Given the description of an element on the screen output the (x, y) to click on. 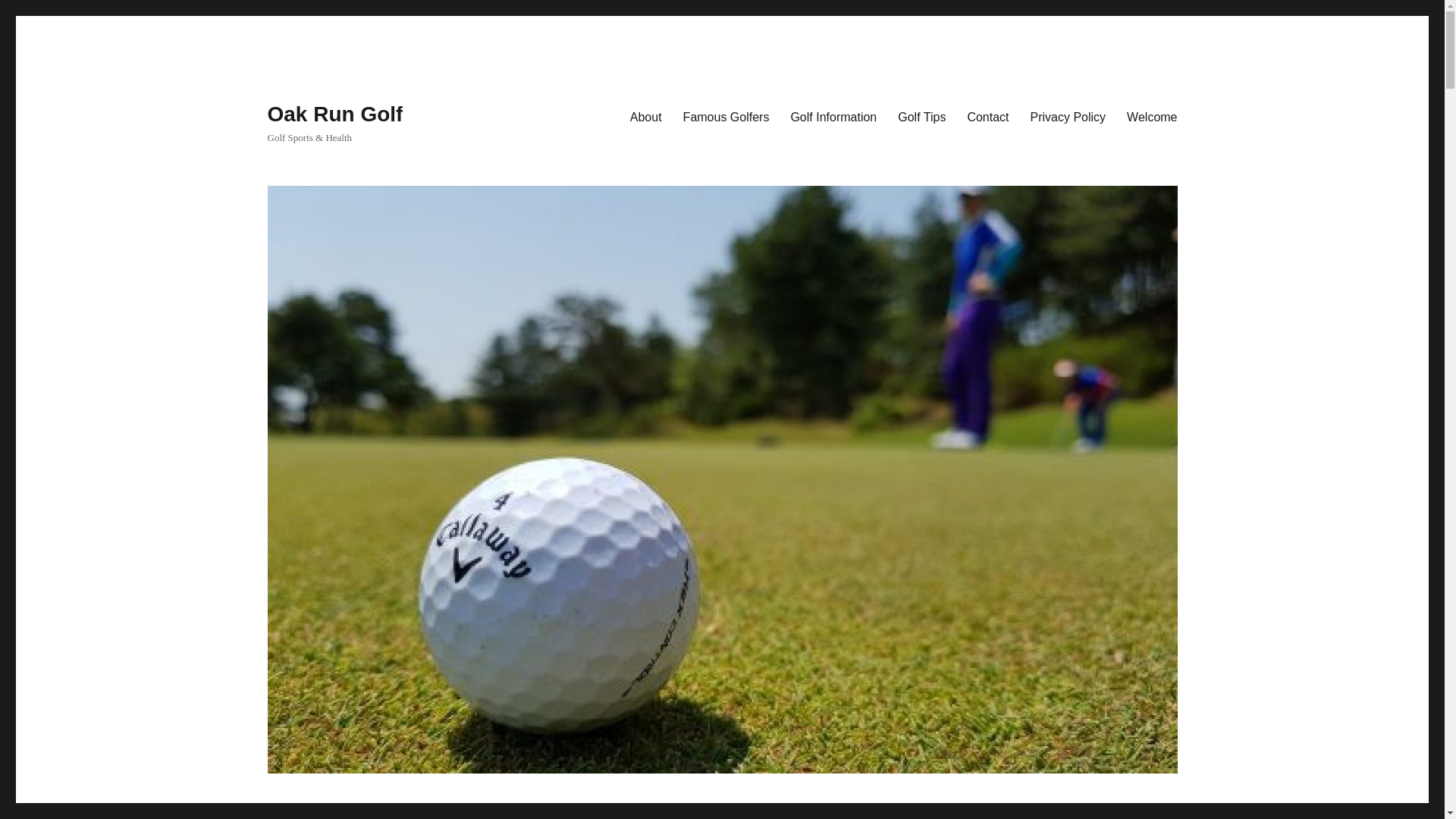
About (646, 116)
Contact (987, 116)
Oak Run Golf (334, 114)
Privacy Policy (1068, 116)
Famous Golfers (726, 116)
Golf Tips (921, 116)
Welcome (1152, 116)
Golf Information (832, 116)
